Given the description of an element on the screen output the (x, y) to click on. 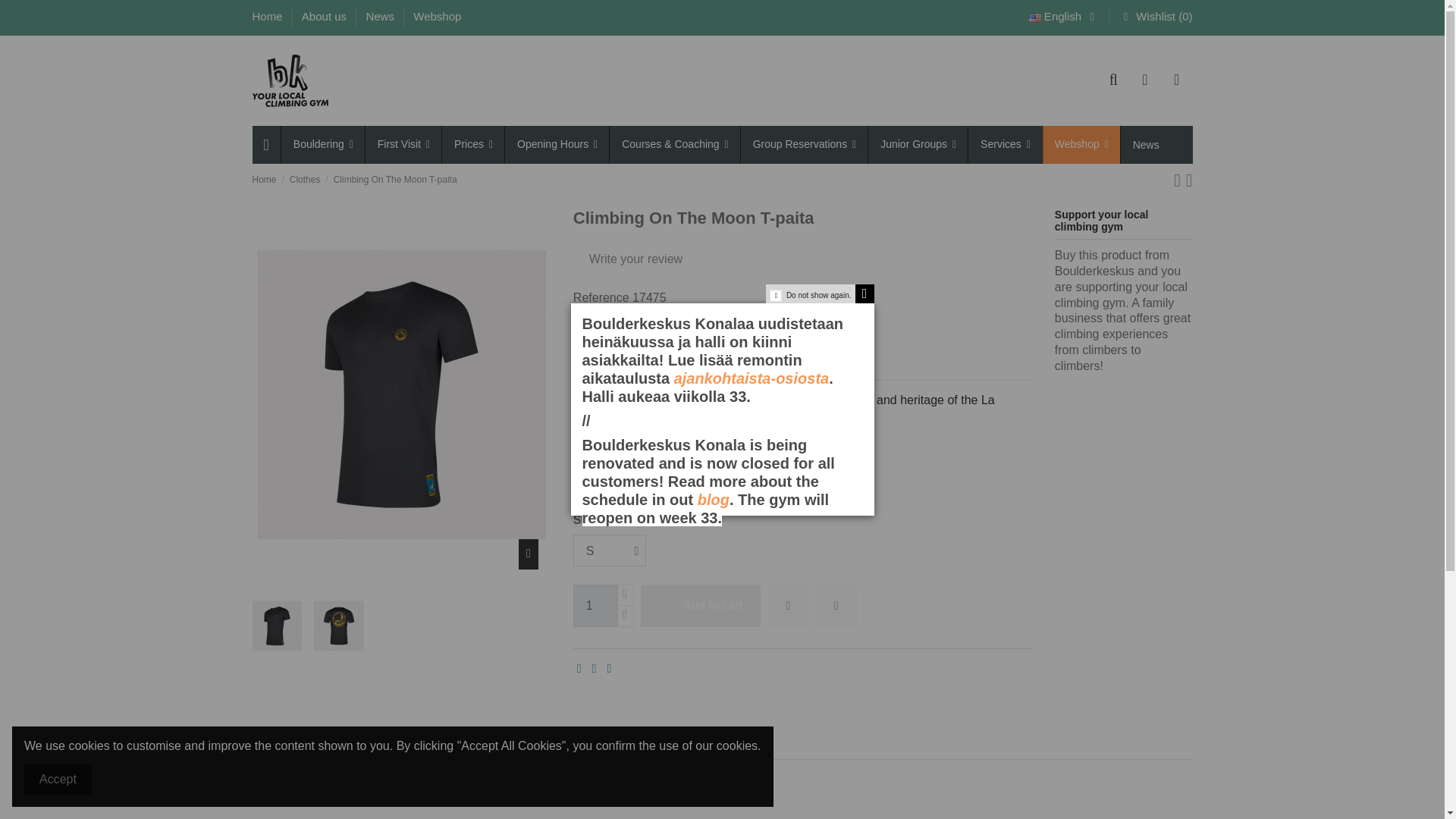
Bouldering (323, 144)
Home (268, 15)
First Visit (403, 144)
About us (325, 15)
News (381, 15)
1 (595, 605)
About us (325, 15)
English (1064, 15)
Webshop (437, 15)
Log in to your customer account (1144, 80)
